Given the description of an element on the screen output the (x, y) to click on. 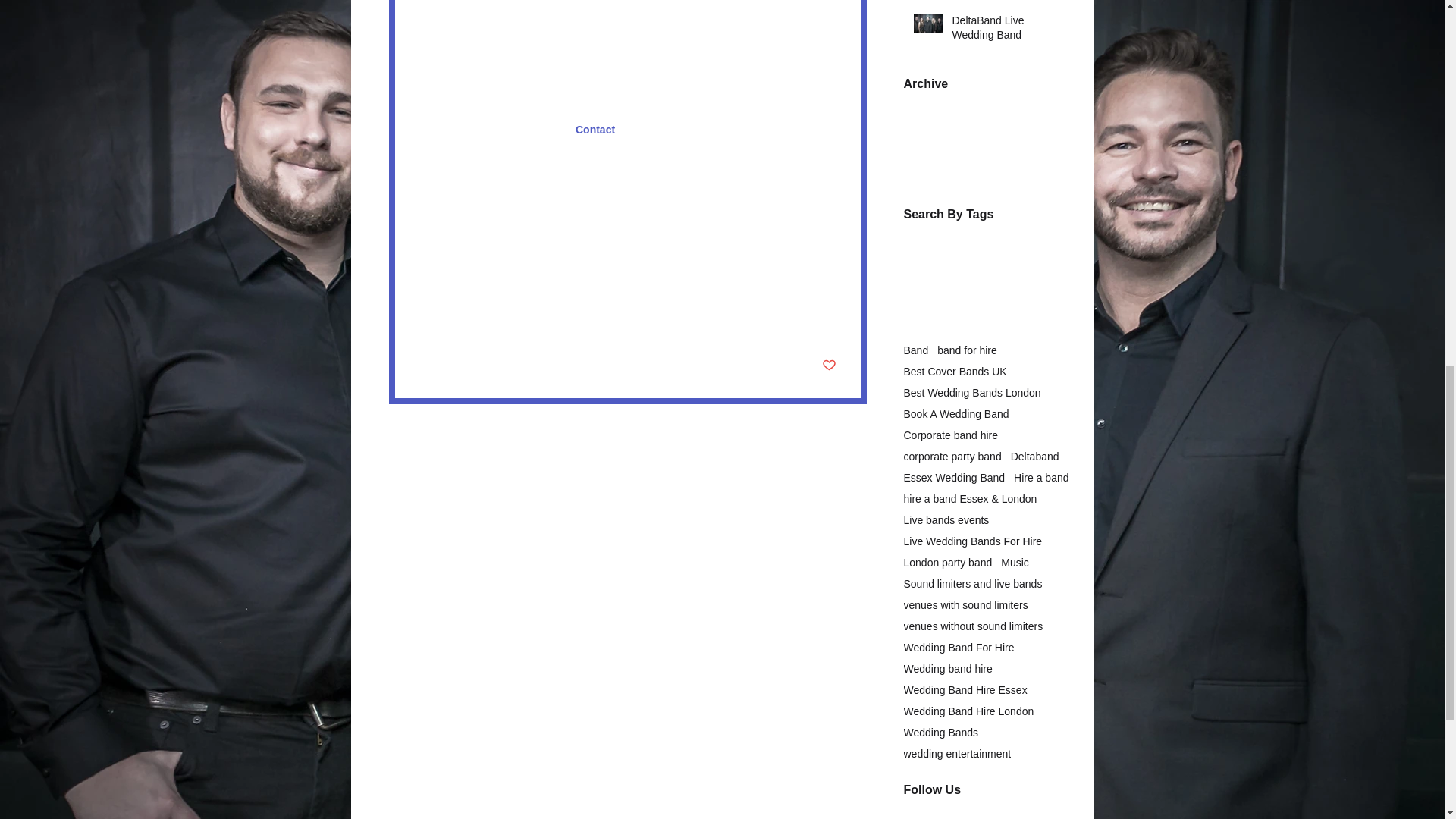
venues with sound limiters (481, 268)
Wedding Band Hire London (680, 225)
DeltaBand Live Wedding Band (1006, 31)
band for hire (967, 349)
Wedding Band Hire Essex (545, 225)
Book A Wedding Band (956, 413)
Contact (594, 129)
Best Wedding Bands London (972, 392)
Band (916, 349)
Sound limiters and live bands (488, 246)
